Given the description of an element on the screen output the (x, y) to click on. 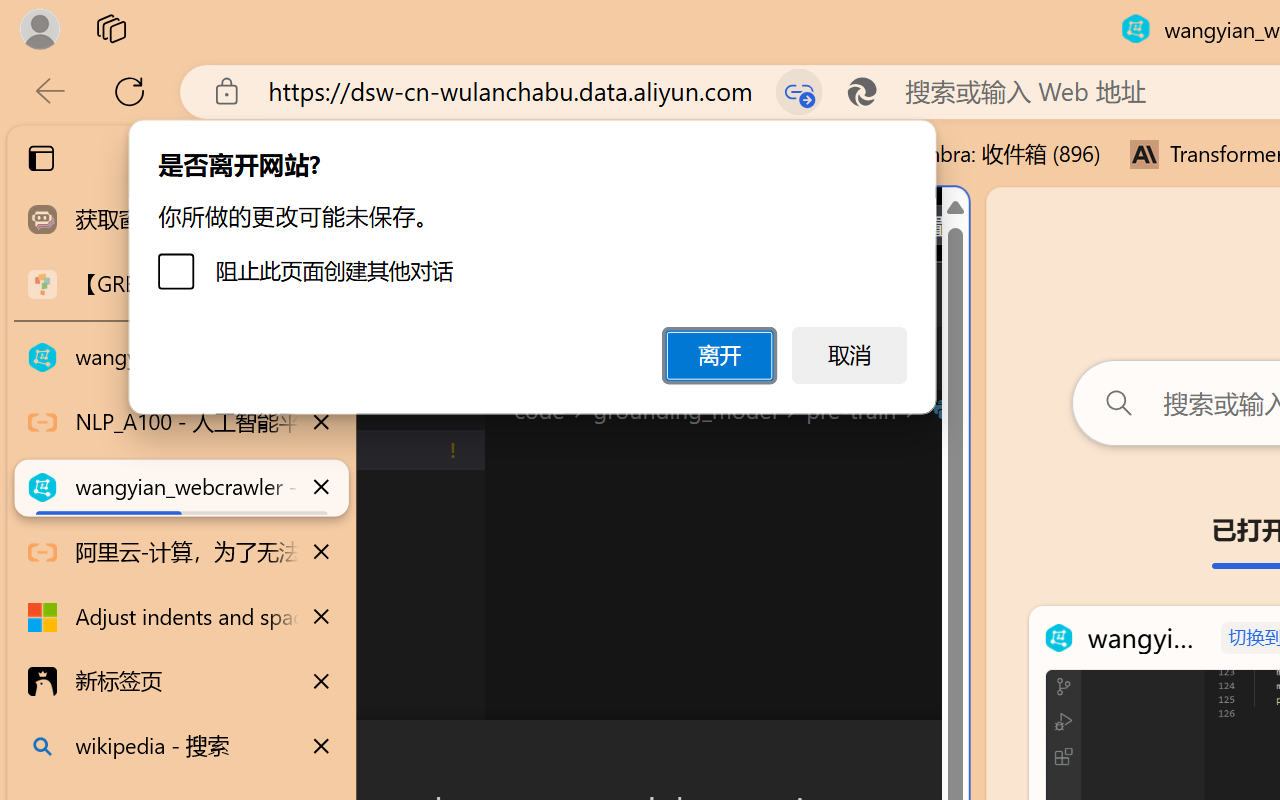
Class: actions-container (529, 756)
Close Dialog (959, 756)
Adjust indents and spacing - Microsoft Support (181, 617)
Run and Debug (Ctrl+Shift+D) (135, 692)
